Given the description of an element on the screen output the (x, y) to click on. 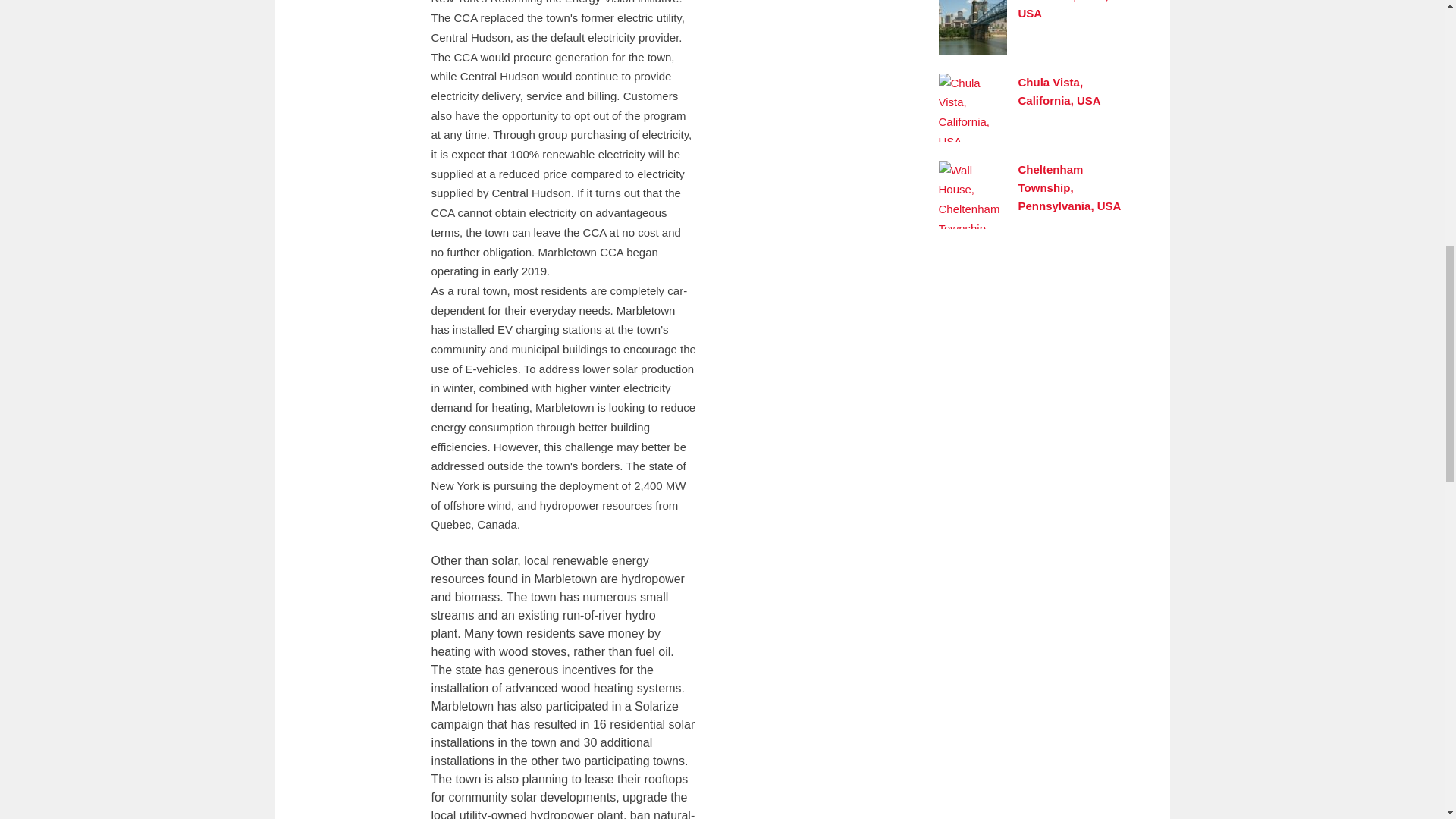
Cincinnati, Ohio, USA (1062, 9)
Cheltenham Township, Pennsylvania, USA (1069, 187)
Chula Vista, California, USA (1058, 91)
